Given the description of an element on the screen output the (x, y) to click on. 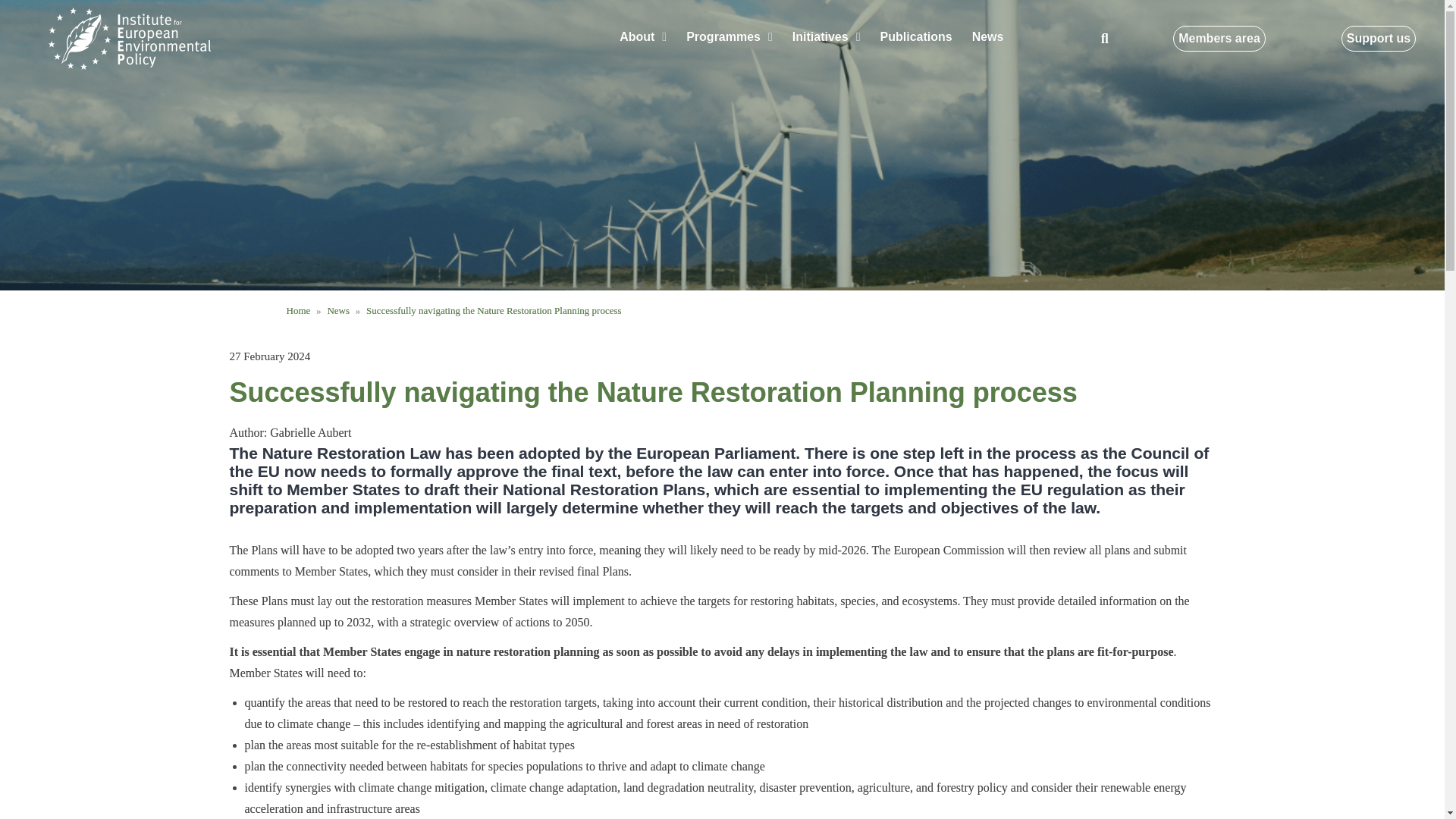
Initiatives (826, 36)
About (643, 36)
Publications (916, 36)
News (987, 36)
Programmes (730, 36)
